Given the description of an element on the screen output the (x, y) to click on. 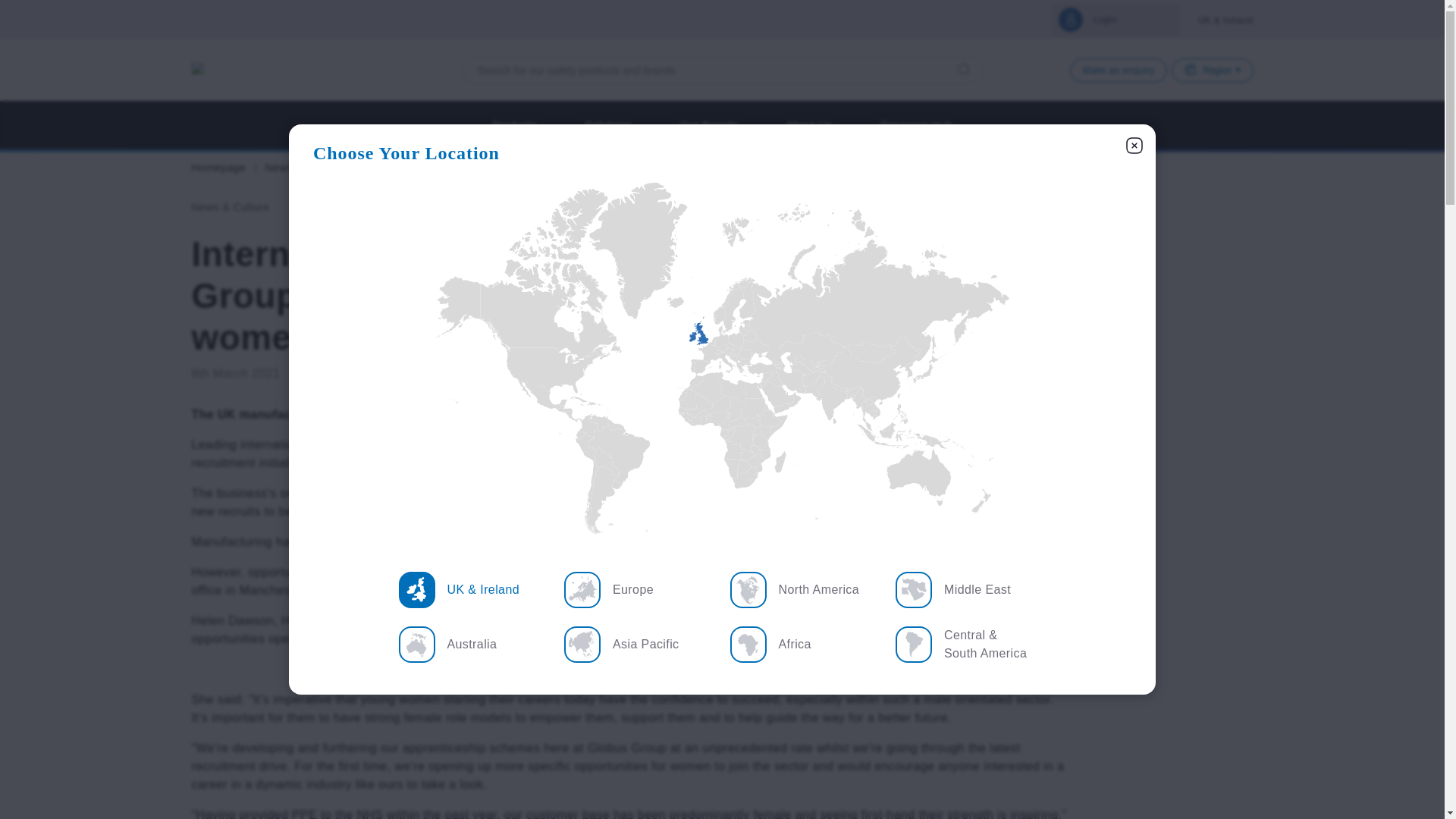
Czech Republic (729, 345)
Austria (726, 350)
Login (1115, 19)
Make an enquiry (1118, 69)
Estonia (744, 322)
Bulgaria (746, 361)
France (708, 353)
Region (1212, 69)
Bosnia and Herzegovina (733, 358)
Belarus (749, 336)
Solutions (608, 124)
